Given the description of an element on the screen output the (x, y) to click on. 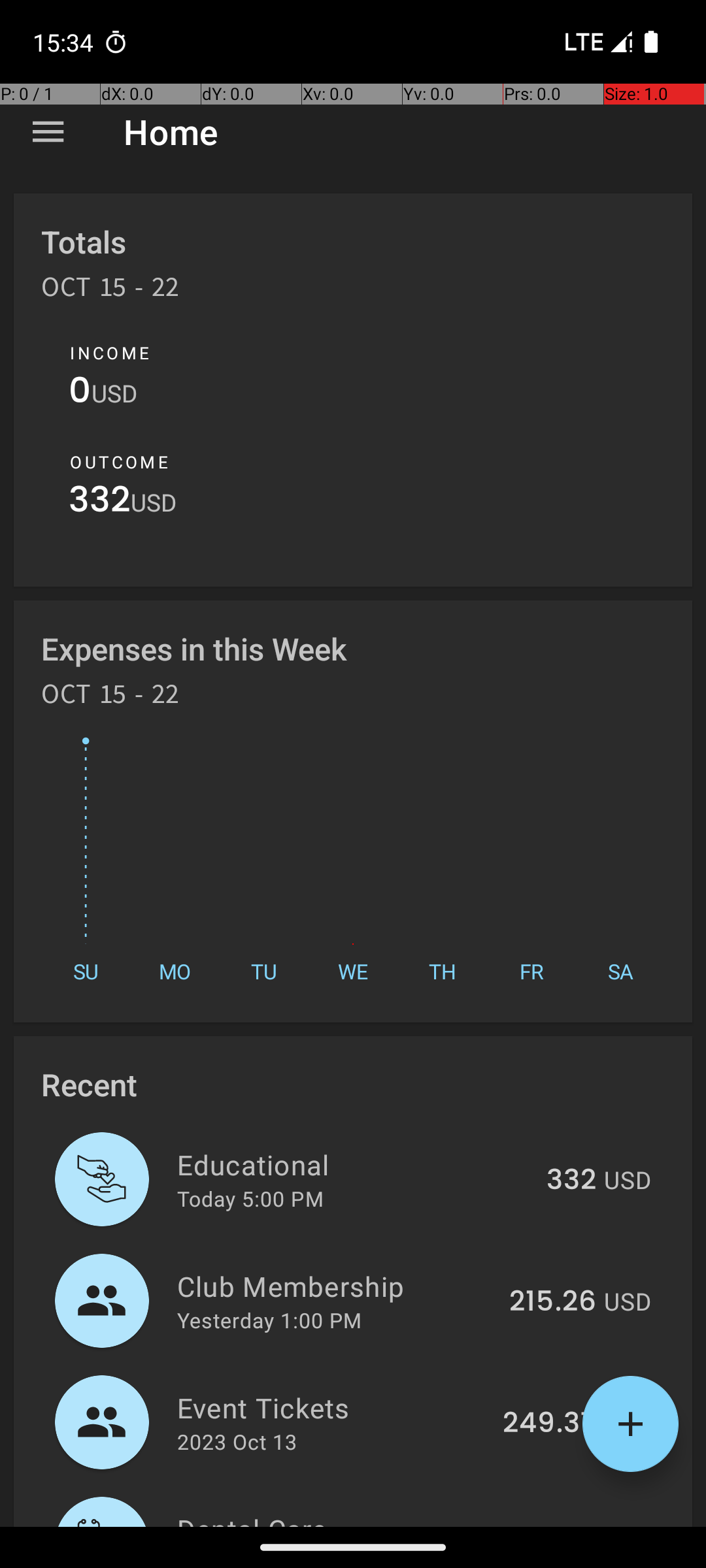
332 Element type: android.widget.TextView (99, 502)
Educational Element type: android.widget.TextView (354, 1164)
Club Membership Element type: android.widget.TextView (335, 1285)
Yesterday 1:00 PM Element type: android.widget.TextView (269, 1320)
215.26 Element type: android.widget.TextView (552, 1301)
Event Tickets Element type: android.widget.TextView (332, 1407)
249.37 Element type: android.widget.TextView (549, 1423)
Dental Care Element type: android.widget.TextView (339, 1518)
92.64 Element type: android.widget.TextView (556, 1524)
